Given the description of an element on the screen output the (x, y) to click on. 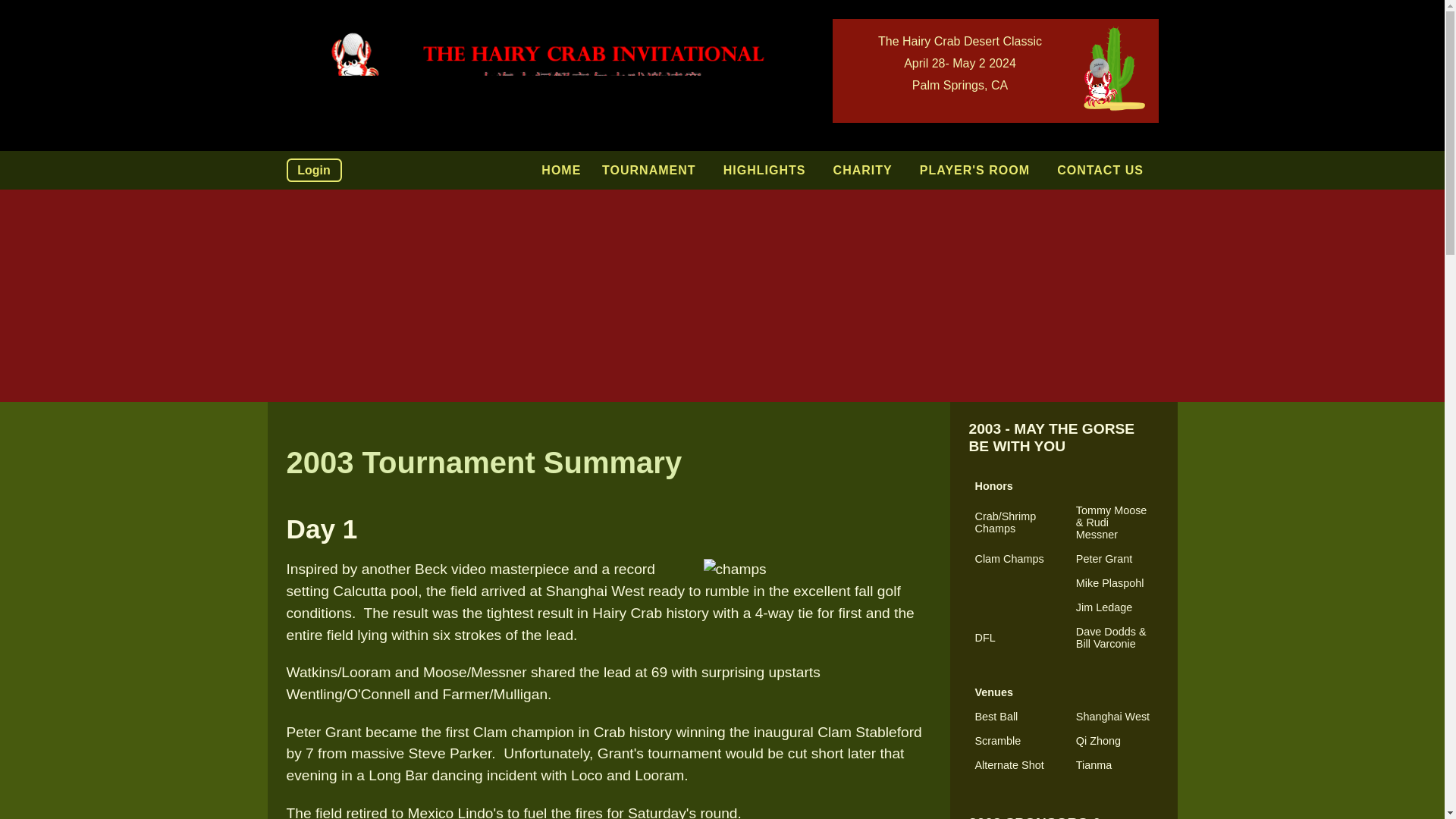
TOURNAMENT (651, 170)
Login (314, 169)
CHARITY (865, 170)
Login (314, 169)
HIGHLIGHTS (767, 170)
HOME (560, 170)
